Given the description of an element on the screen output the (x, y) to click on. 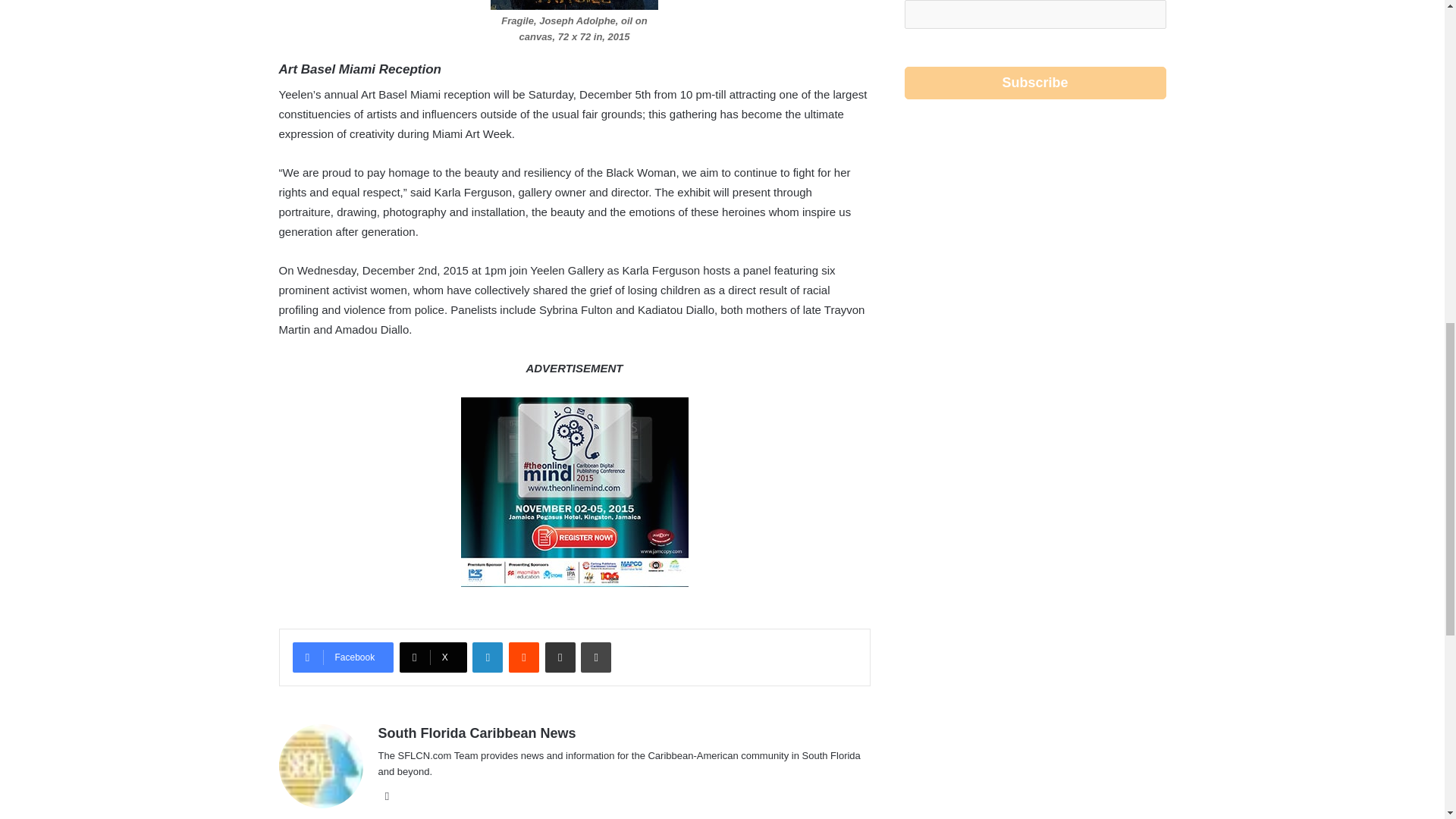
Facebook (343, 657)
LinkedIn (486, 657)
3rd party ad content (1034, 249)
LinkedIn (486, 657)
Print (595, 657)
X (432, 657)
Reddit (523, 657)
Share via Email (559, 657)
Facebook (343, 657)
X (432, 657)
